Given the description of an element on the screen output the (x, y) to click on. 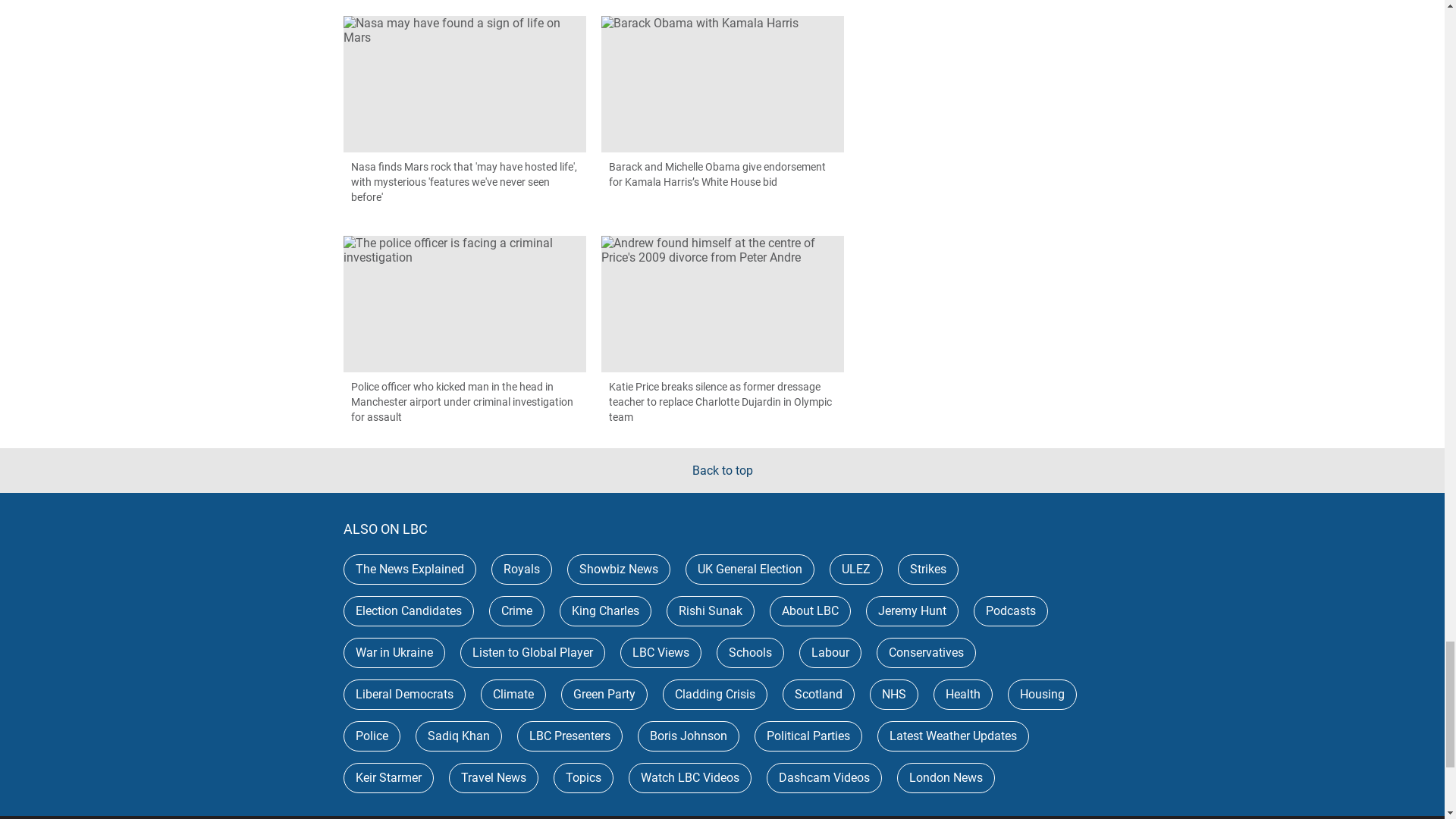
Back to top (721, 470)
